Given the description of an element on the screen output the (x, y) to click on. 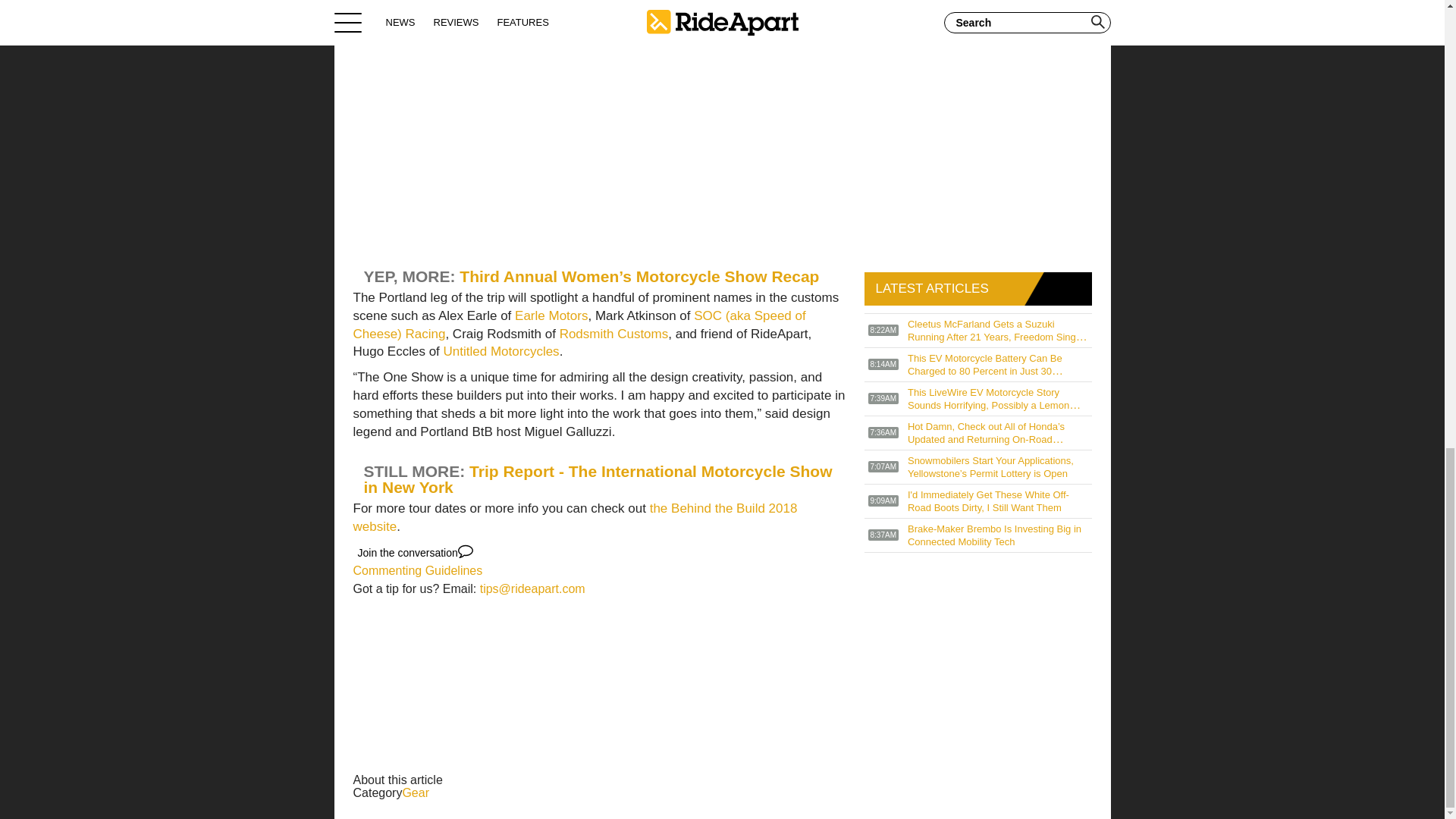
the Behind the Build 2018 website (575, 517)
Earle Motors (551, 315)
Untitled Motorcycles (501, 350)
Trip Report - The International Motorcycle Show in New York (598, 479)
Rodsmith Customs (613, 333)
